Given the description of an element on the screen output the (x, y) to click on. 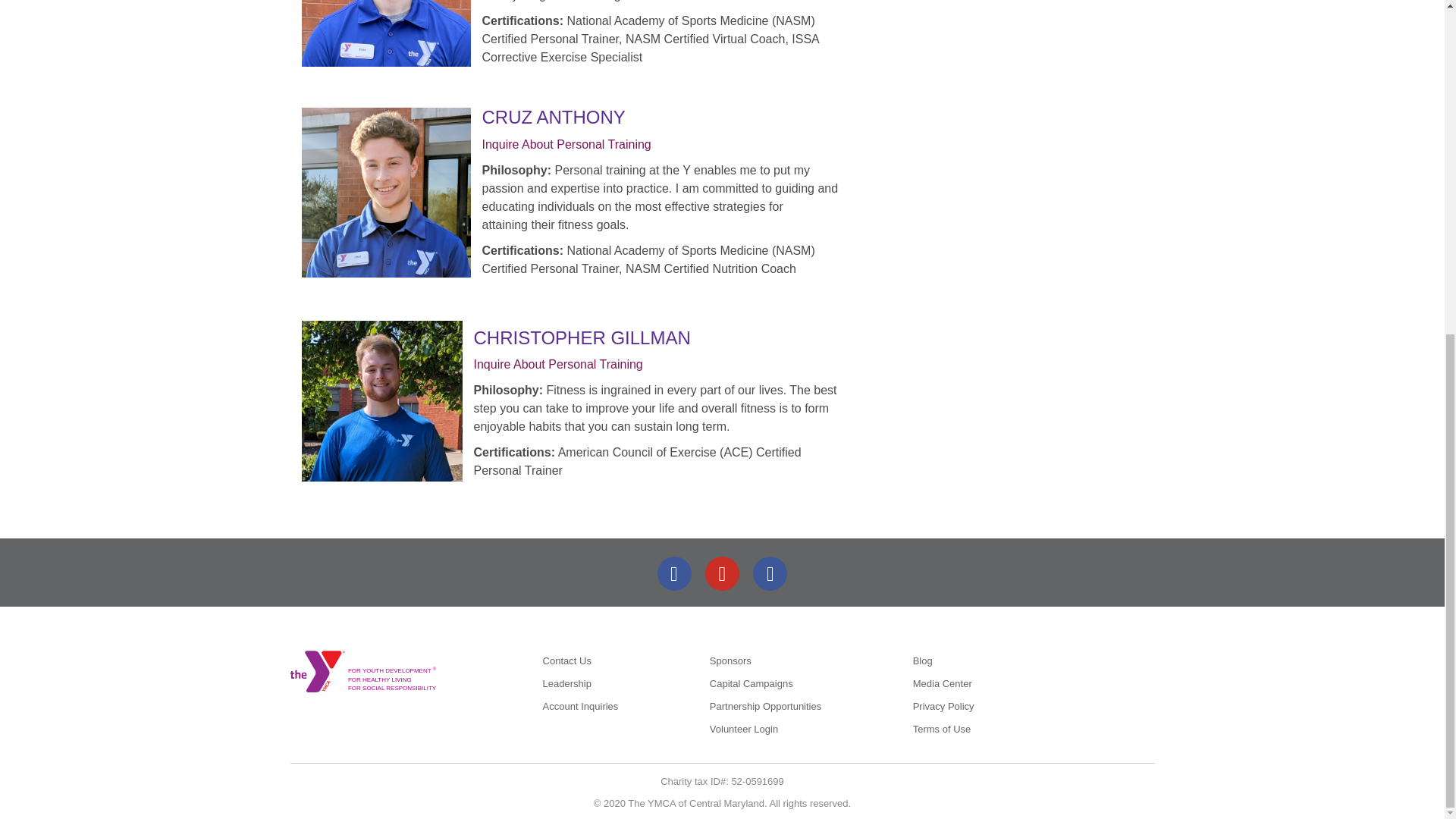
Follow the Y on Instagram (769, 573)
Inquire about training with Christopher (557, 364)
Follow the Y on Facebook (674, 573)
Inquire about training with Cruz (565, 144)
Home (316, 671)
Follow the Y on Youtube (721, 573)
